Given the description of an element on the screen output the (x, y) to click on. 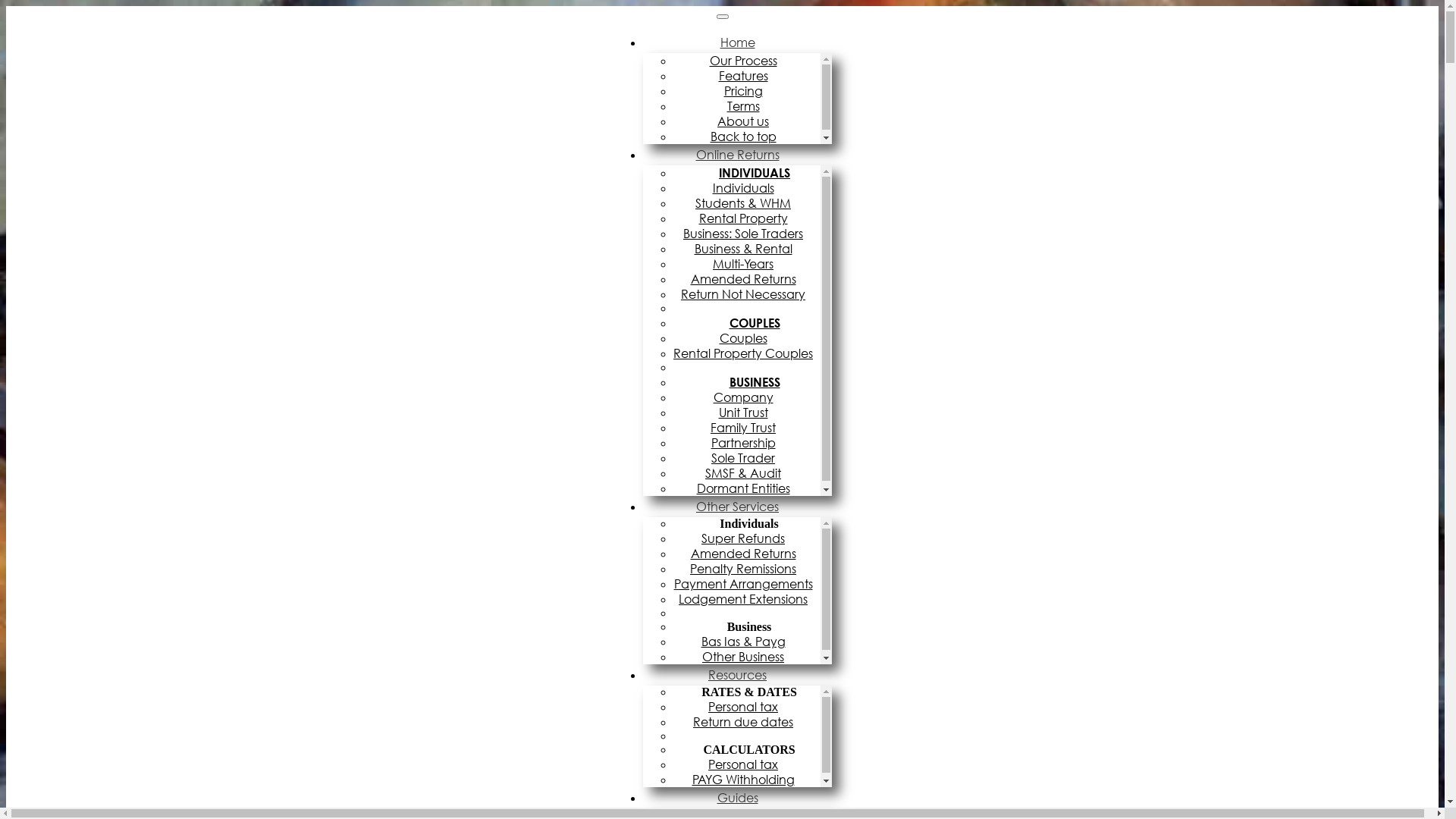
Features Element type: text (746, 75)
COUPLES Element type: text (746, 322)
Penalty Remissions Element type: text (746, 568)
Dormant Entities Element type: text (746, 487)
PAYG Withholding Element type: text (746, 779)
Lodgement Extensions Element type: text (746, 598)
Rental Property Element type: text (747, 218)
Other Business Element type: text (746, 656)
Sole Trader Element type: text (746, 457)
Pricing Element type: text (746, 90)
Family Trust Element type: text (746, 427)
Students & WHM Element type: text (746, 202)
Resources Element type: text (737, 674)
Payment Arrangements Element type: text (746, 583)
Our Process Element type: text (746, 60)
Guides Element type: text (737, 797)
Home Element type: text (737, 42)
Partnership Element type: text (747, 442)
Bas Ias & Payg Element type: text (746, 641)
Super Refunds Element type: text (746, 538)
Individuals Element type: text (746, 187)
Back to top Element type: text (746, 136)
Other Services Element type: text (737, 506)
Return Not Necessary Element type: text (746, 293)
SMSF & Audit Element type: text (746, 472)
Multi-Years Element type: text (746, 263)
BUSINESS Element type: text (746, 381)
Online Returns Element type: text (737, 154)
INDIVIDUALS Element type: text (746, 172)
Unit Trust Element type: text (746, 412)
Rental Property Couples Element type: text (746, 353)
About us Element type: text (746, 120)
Amended Returns Element type: text (746, 553)
Return due dates Element type: text (746, 721)
Personal tax Element type: text (746, 706)
Couples Element type: text (746, 337)
Business & Rental Element type: text (747, 248)
Company Element type: text (746, 396)
Amended Returns Element type: text (746, 278)
Business: Sole Traders Element type: text (746, 233)
Terms Element type: text (746, 105)
Personal tax Element type: text (746, 764)
